Given the description of an element on the screen output the (x, y) to click on. 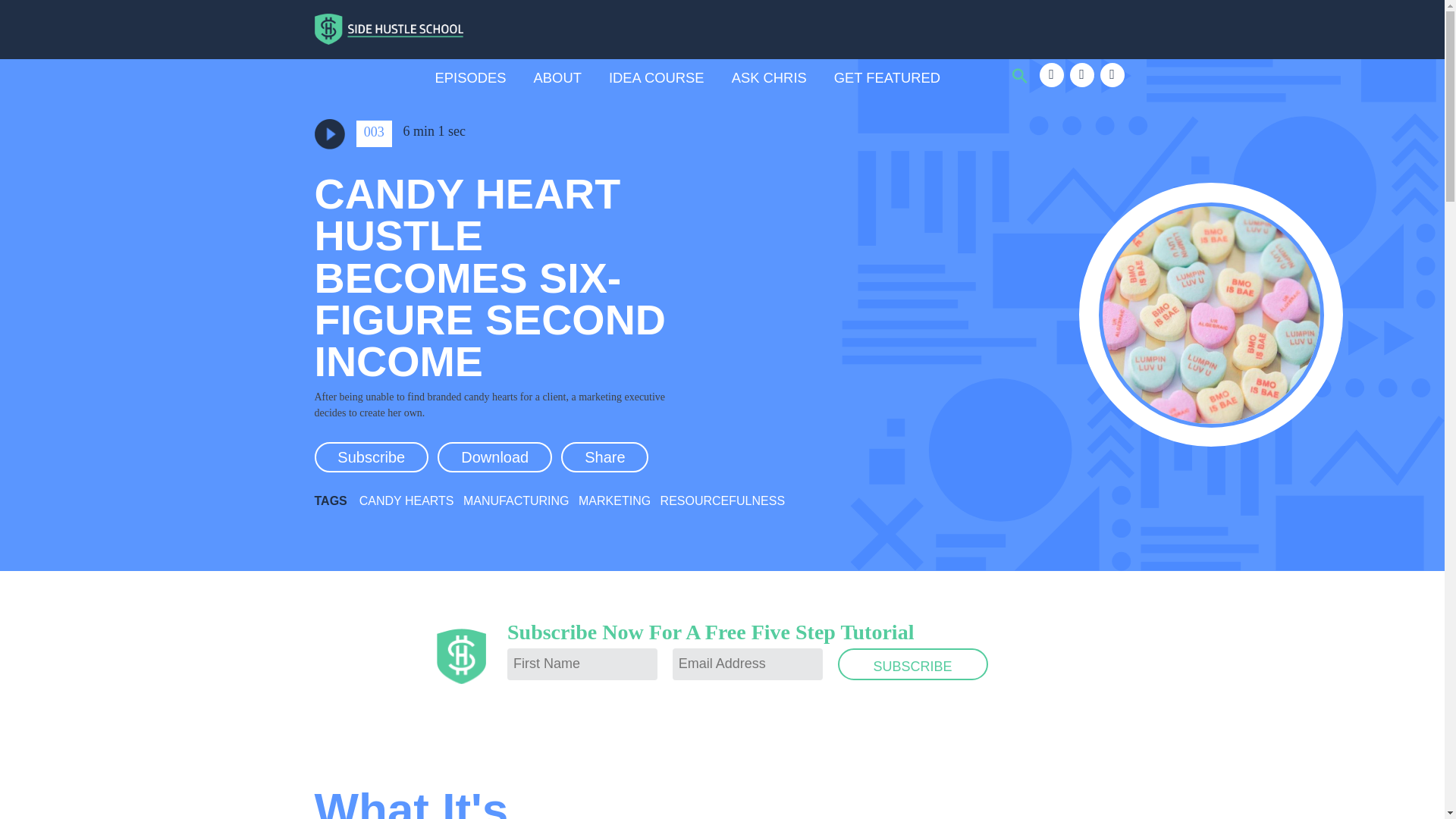
SUBSCRIBE (913, 664)
GET FEATURED (887, 77)
Download (494, 457)
IDEA COURSE (656, 77)
Subscribe (371, 457)
Share (603, 457)
EPISODES (470, 77)
ABOUT (557, 77)
ASK CHRIS (769, 77)
